Given the description of an element on the screen output the (x, y) to click on. 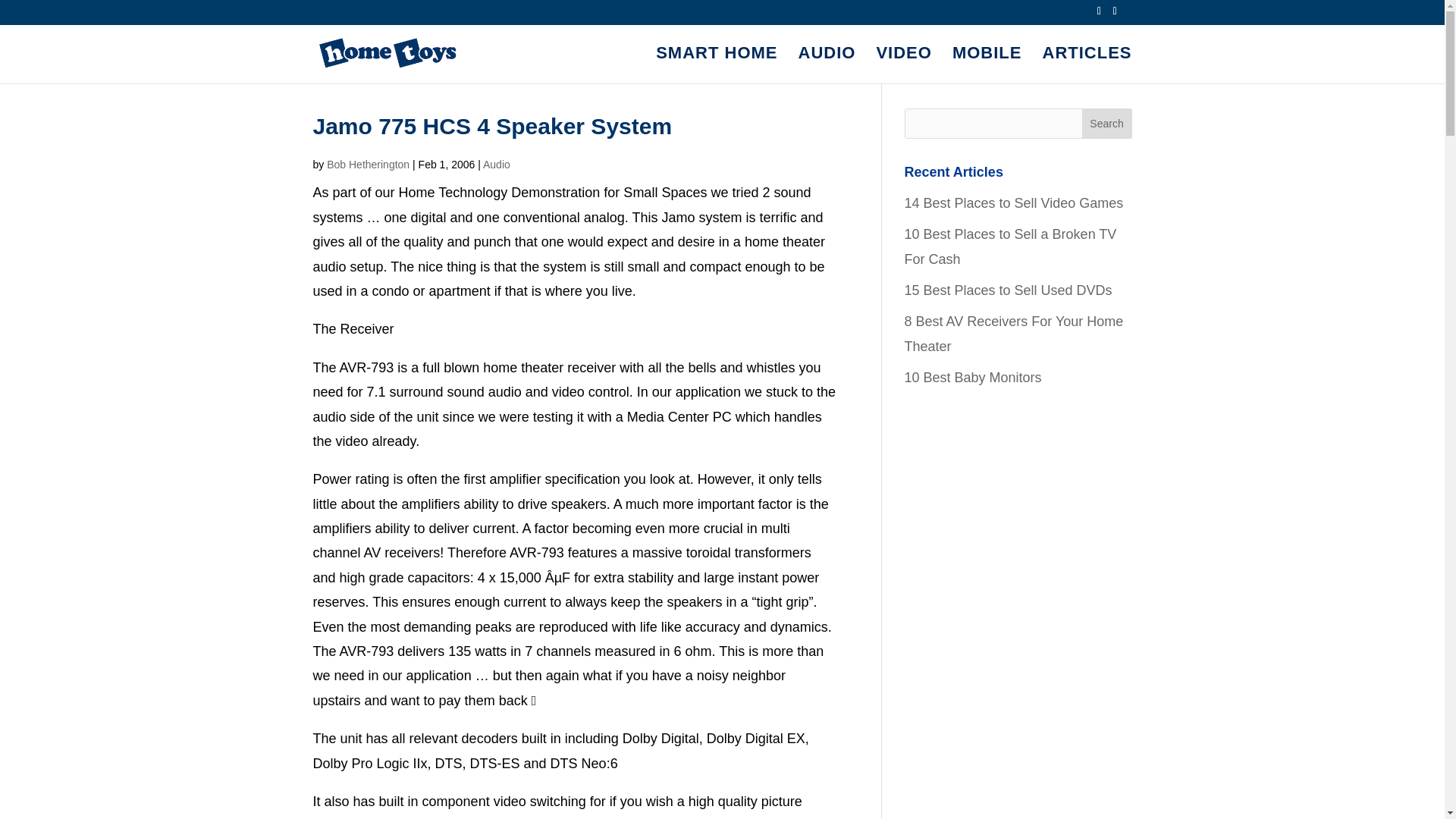
15 Best Places to Sell Used DVDs (1008, 290)
10 Best Baby Monitors (972, 377)
Bob Hetherington (367, 164)
AUDIO (826, 65)
ARTICLES (1086, 65)
Search (1106, 123)
MOBILE (987, 65)
Audio (497, 164)
10 Best Places to Sell a Broken TV For Cash (1010, 246)
Posts by Bob Hetherington (367, 164)
14 Best Places to Sell Video Games (1013, 202)
VIDEO (903, 65)
SMART HOME (716, 65)
8 Best AV Receivers For Your Home Theater (1013, 332)
